Given the description of an element on the screen output the (x, y) to click on. 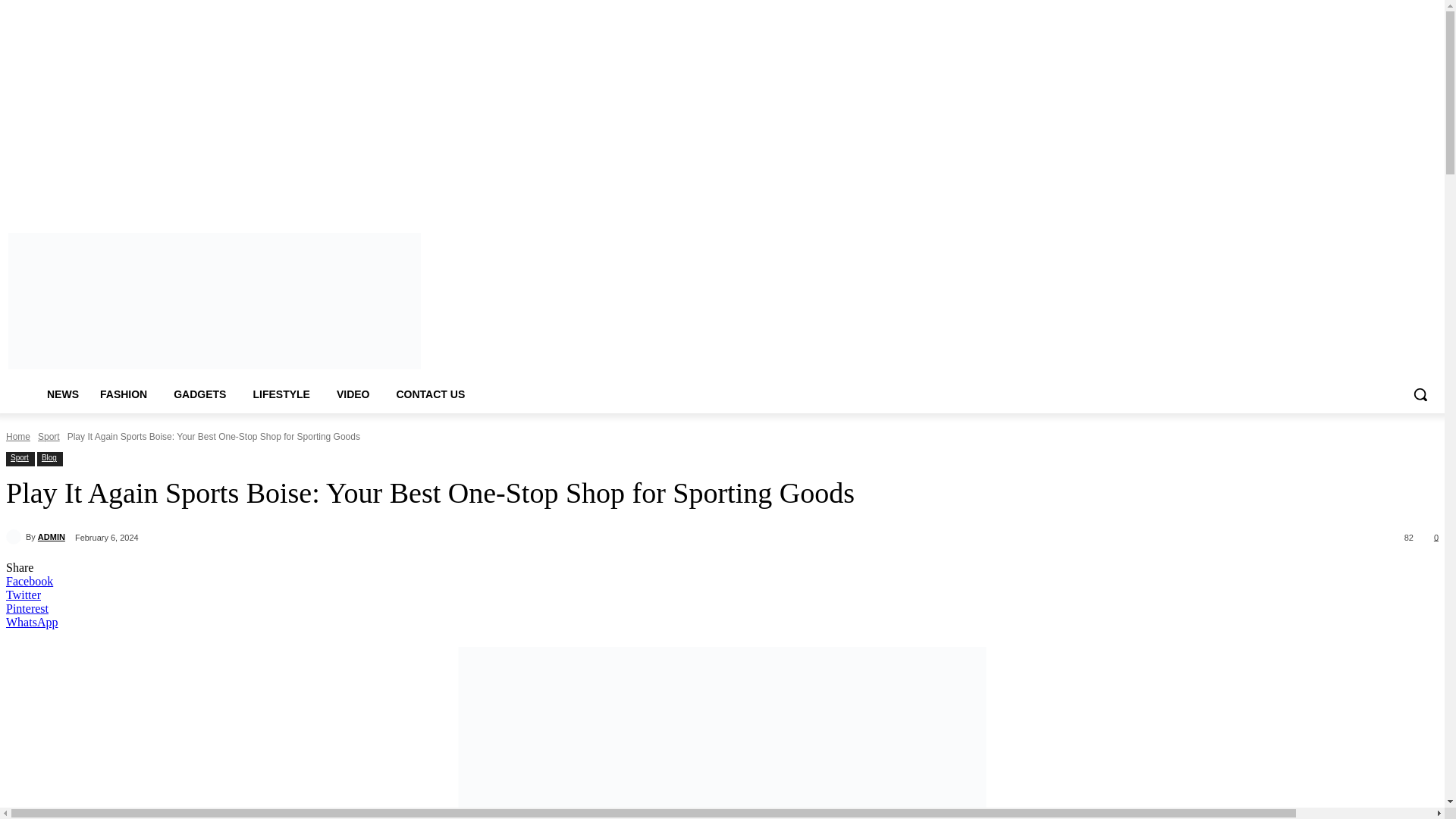
Instagram (1324, 200)
Twitter (1346, 200)
Youtube (1387, 200)
NEWS (62, 393)
Facebook (1304, 200)
GADGETS (202, 394)
Vimeo (1366, 200)
FASHION (125, 394)
